Given the description of an element on the screen output the (x, y) to click on. 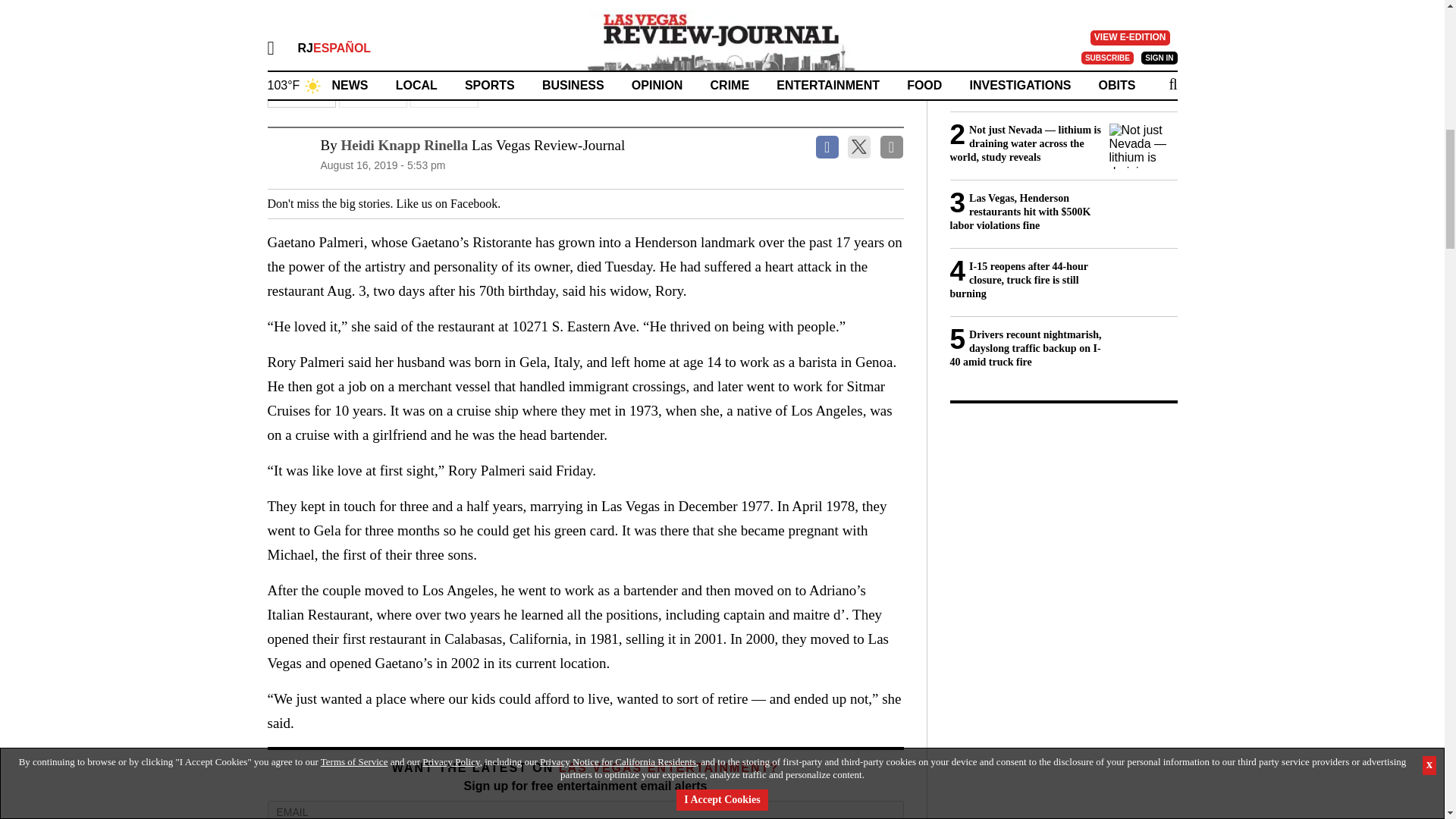
facebook like widget (557, 203)
